Given the description of an element on the screen output the (x, y) to click on. 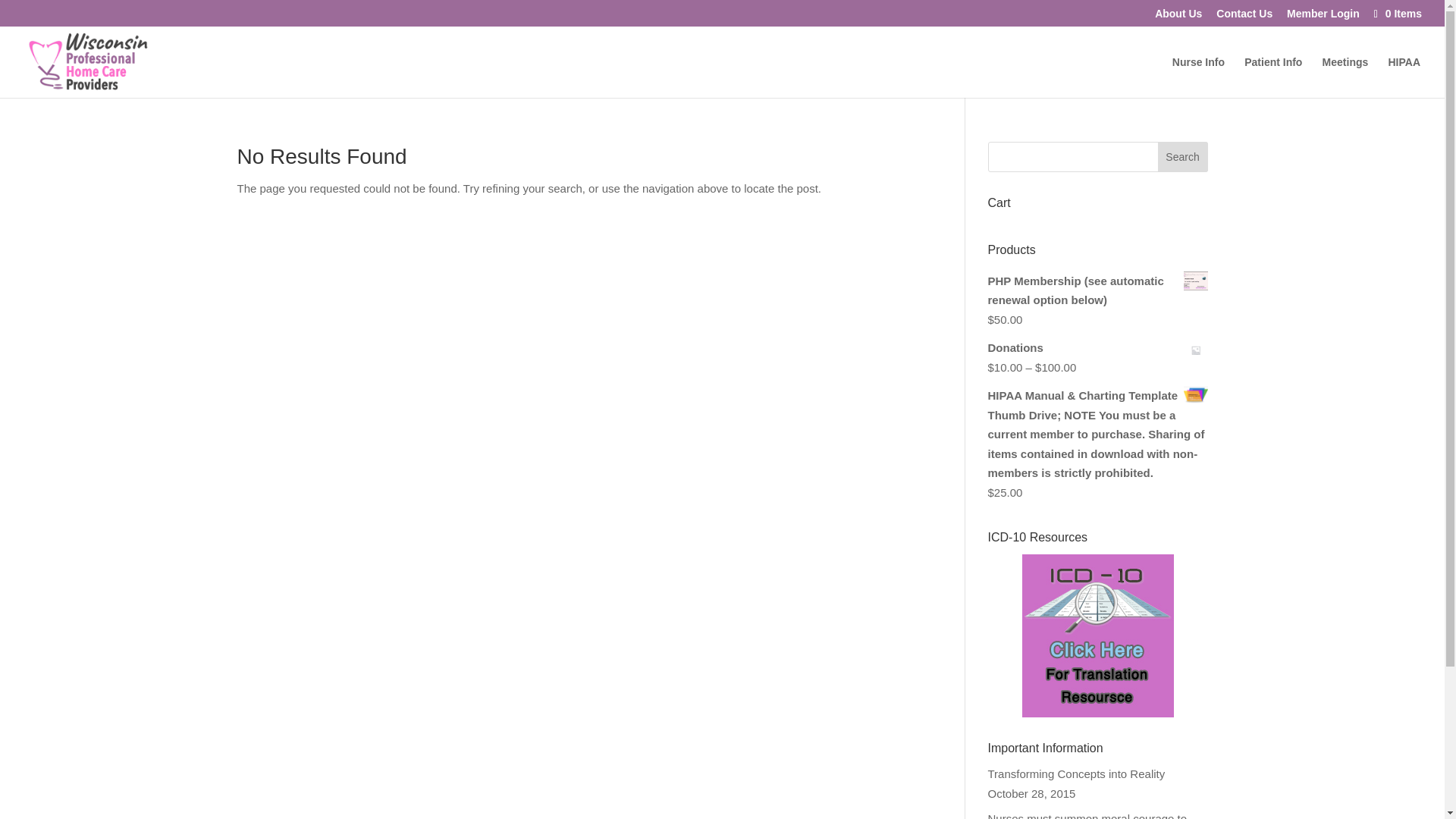
Member Login (1323, 16)
ICD-10 Resources (1097, 635)
Search (1182, 156)
Transforming Concepts into Reality (1075, 773)
Contact Us (1243, 16)
Donations (1097, 347)
0 Items (1396, 13)
Patient Info (1272, 76)
About Us (1178, 16)
Meetings (1345, 76)
Nurse Info (1198, 76)
Search (1182, 156)
